Given the description of an element on the screen output the (x, y) to click on. 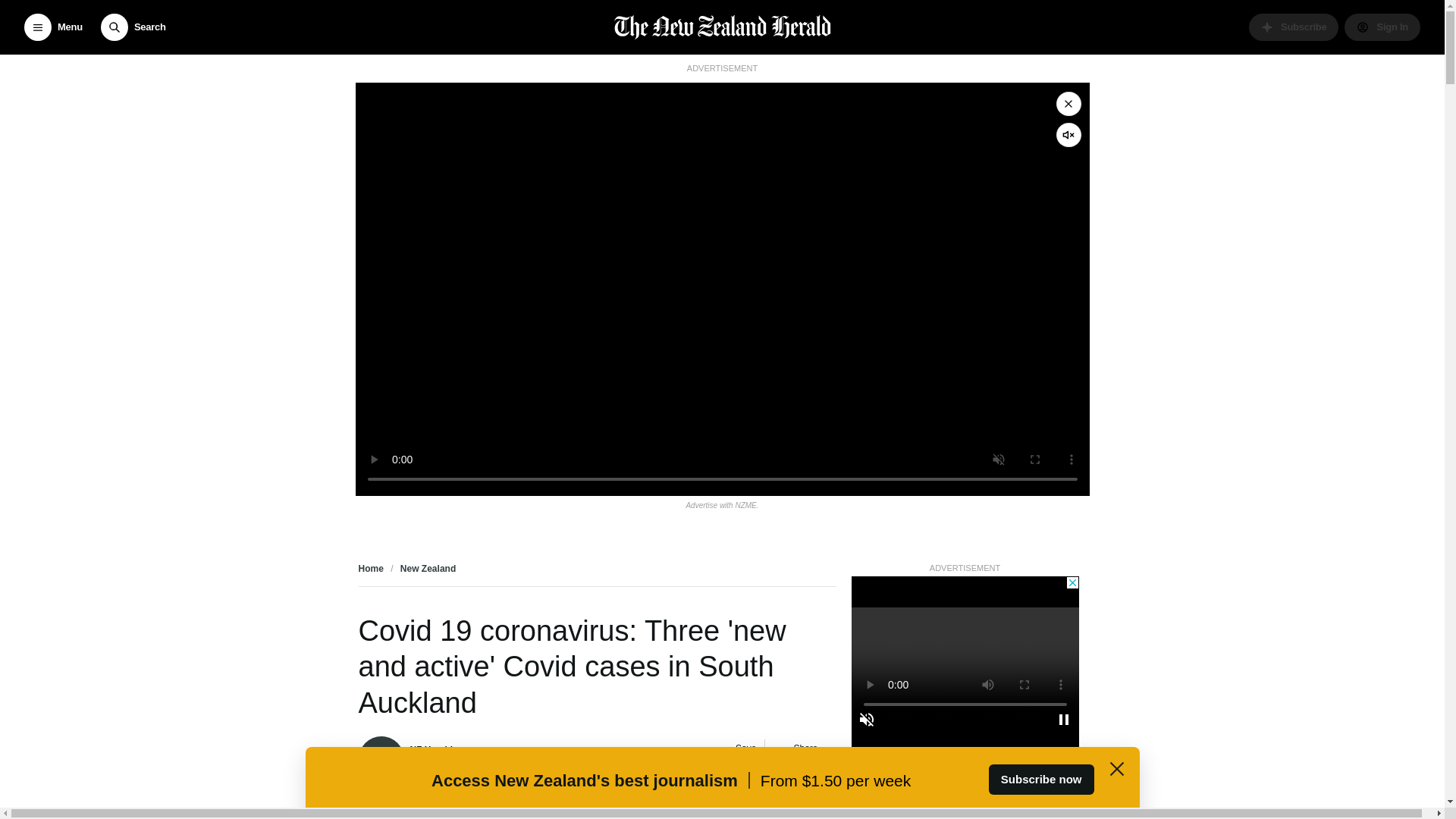
Subscribe (1294, 26)
Sign In (1382, 26)
Menu (53, 26)
Search (132, 26)
Manage your account (1382, 26)
